Given the description of an element on the screen output the (x, y) to click on. 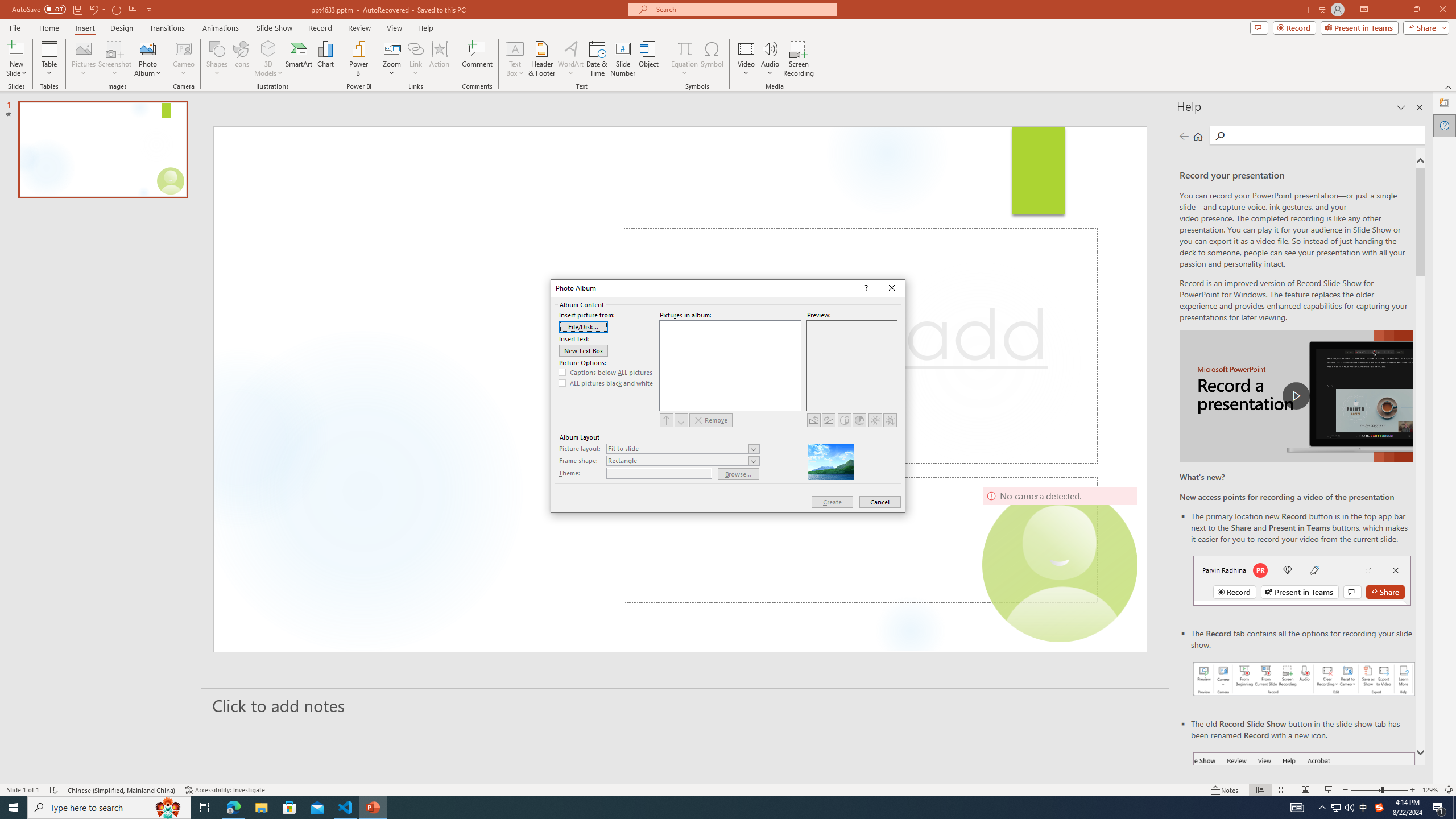
Search (1219, 136)
Previous Item (666, 419)
ALL pictures black and white (606, 383)
Table (49, 58)
Designer (1444, 102)
Microsoft Store (289, 807)
